Given the description of an element on the screen output the (x, y) to click on. 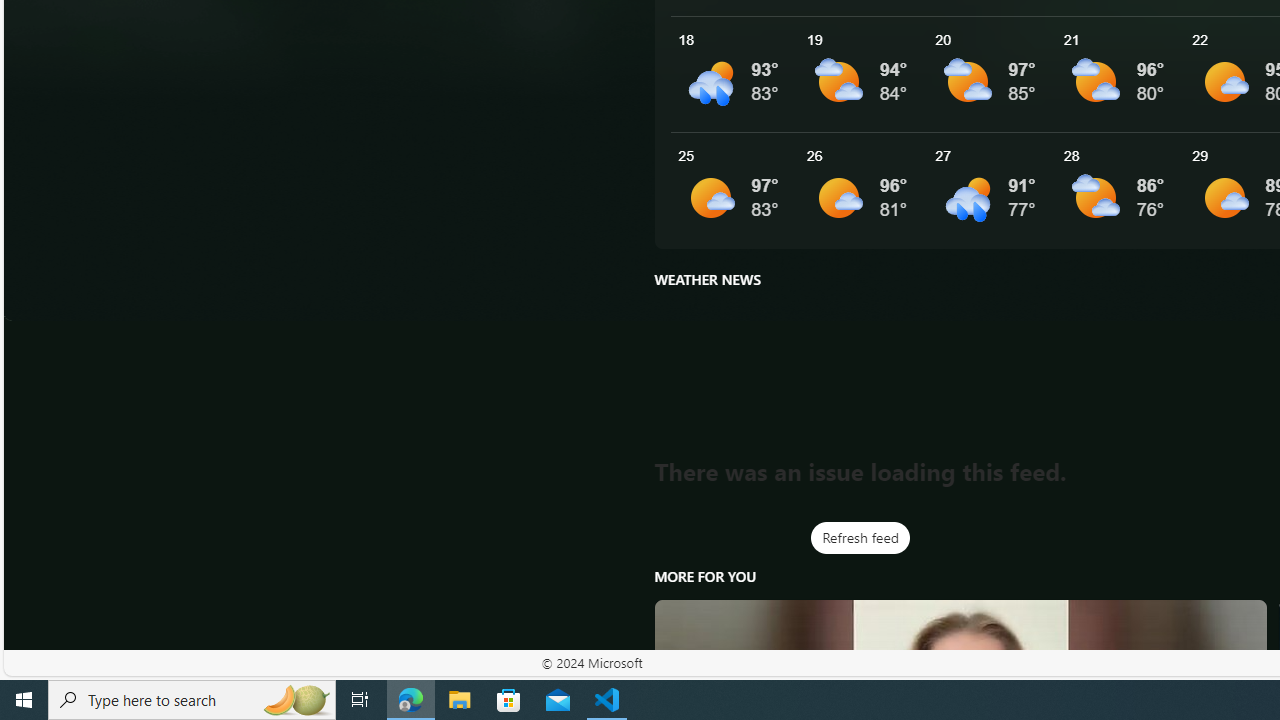
See More Details (1120, 190)
